Given the description of an element on the screen output the (x, y) to click on. 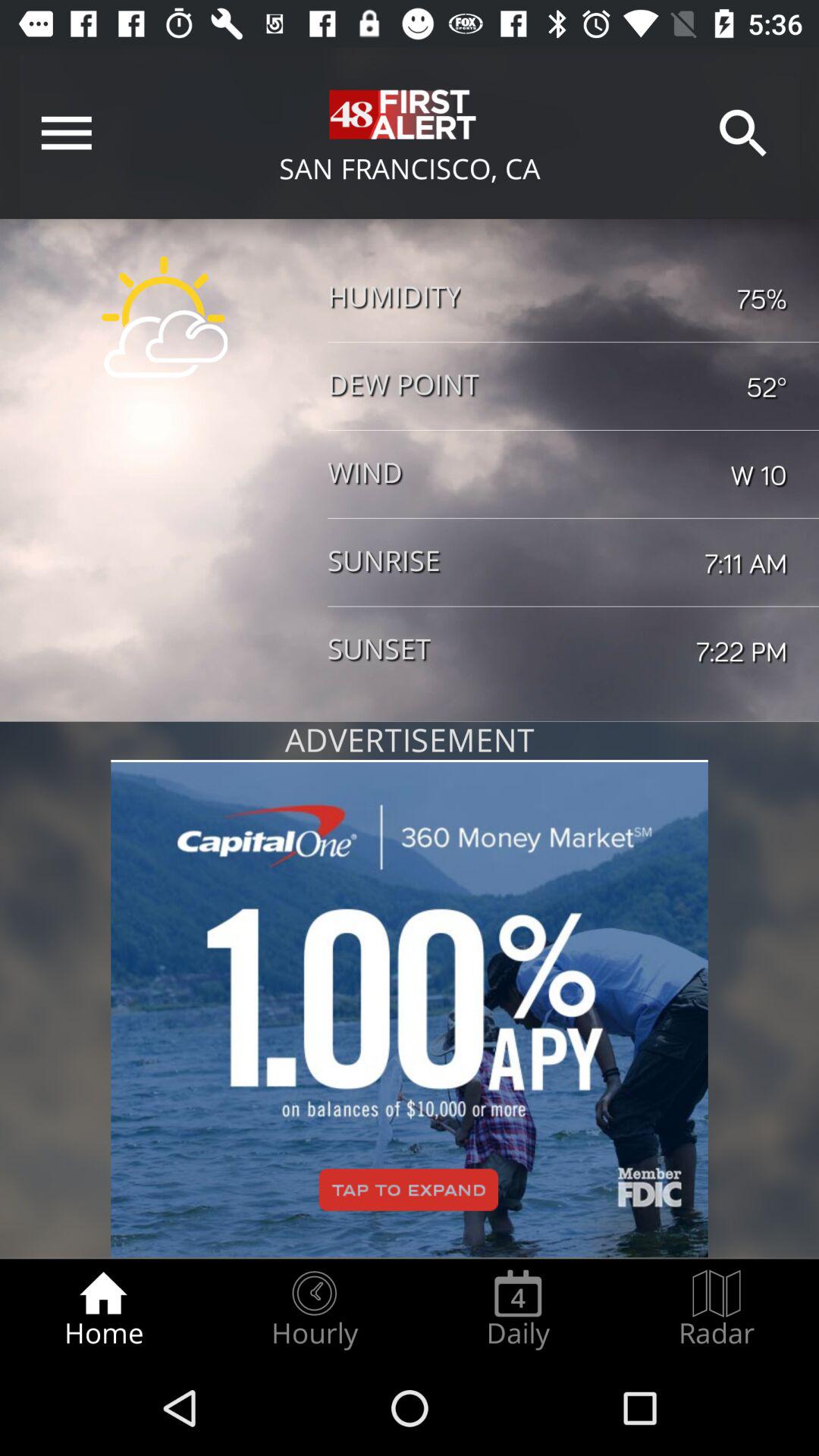
click the item next to hourly icon (518, 1309)
